Given the description of an element on the screen output the (x, y) to click on. 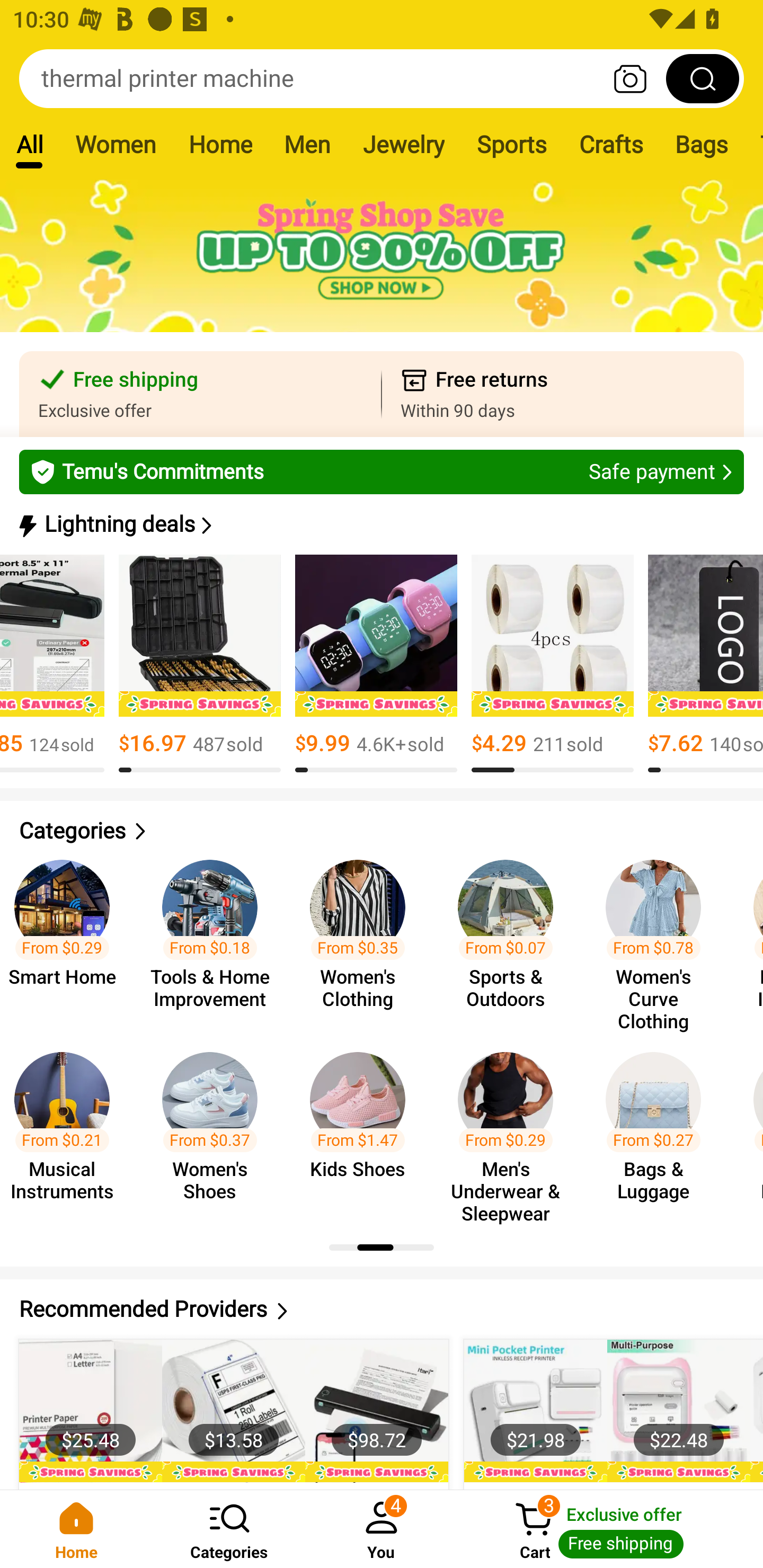
thermal printer machine (381, 78)
All (29, 144)
Women (115, 144)
Home (219, 144)
Men (306, 144)
Jewelry (403, 144)
Sports (511, 144)
Crafts (611, 144)
Bags (701, 144)
Free shipping Exclusive offer (200, 394)
Free returns Within 90 days (562, 394)
Temu's Commitments (381, 471)
Lightning deals (379, 524)
$112.85 124￼sold 8.0 (52, 664)
$16.97 487￼sold 8.0 (199, 664)
$9.99 4.6K+￼sold 8.0 (376, 664)
$4.29 211￼sold 27.0 (552, 664)
$7.62 140￼sold 8.0 (705, 664)
Categories (381, 830)
From $0.29 Smart Home (70, 936)
From $0.18 Tools & Home Improvement (215, 936)
From $0.35 Women's Clothing (363, 936)
From $0.07 Sports & Outdoors (511, 936)
From $0.78 Women's Curve Clothing (658, 936)
From $0.21 Musical Instruments (70, 1128)
From $0.37 Women's Shoes (215, 1128)
From $1.47 Kids Shoes (363, 1128)
From $0.29 Men's Underwear & Sleepwear (511, 1128)
From $0.27 Bags & Luggage (658, 1128)
Recommended Providers (381, 1309)
Home (76, 1528)
Categories (228, 1528)
You 4 You (381, 1528)
Cart 3 Cart Exclusive offer (610, 1528)
